Given the description of an element on the screen output the (x, y) to click on. 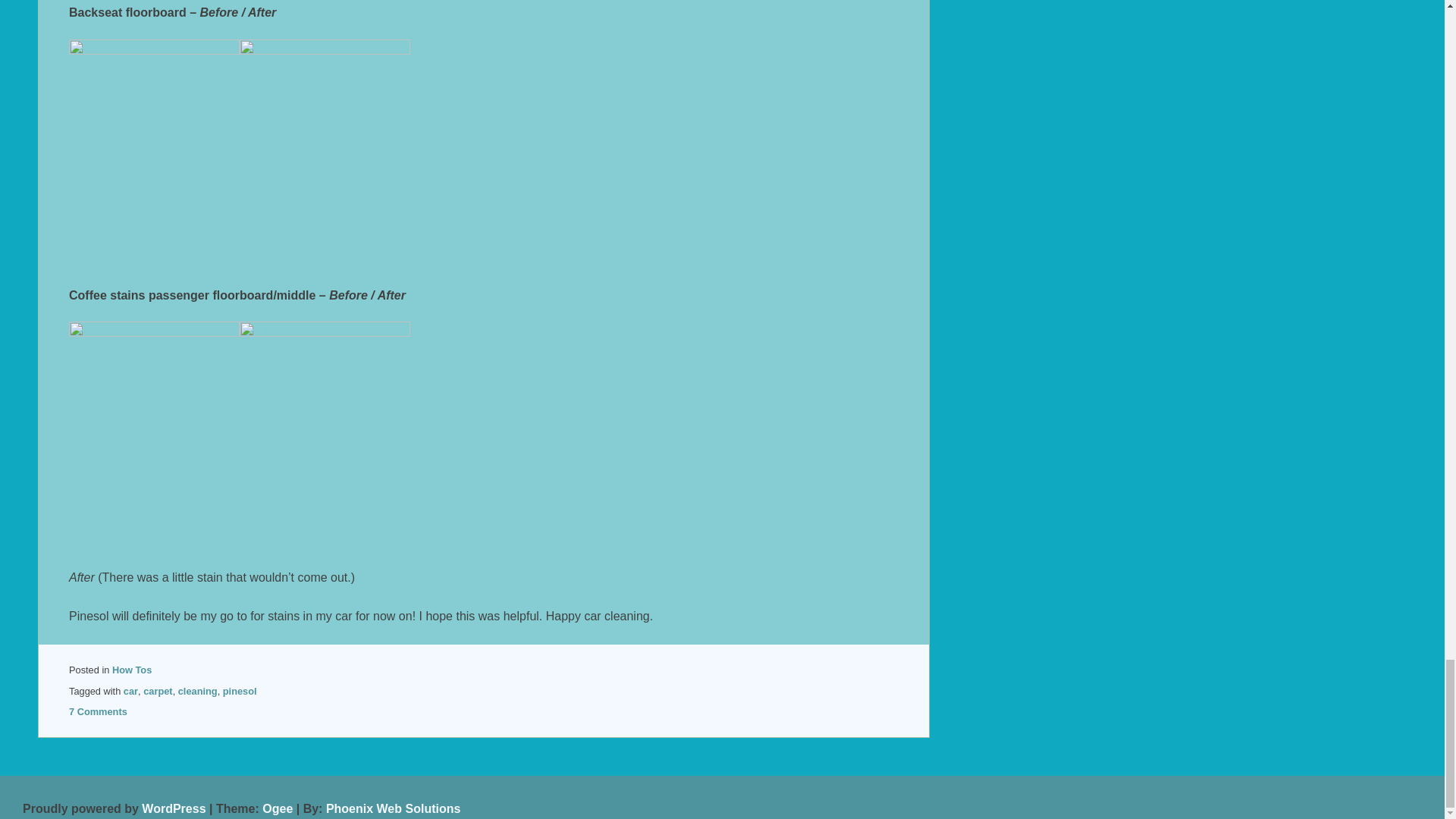
Phoenix Web Solutions (393, 808)
Ogee (277, 808)
How Tos (131, 669)
7 Comments (98, 711)
WordPress (173, 808)
carpet (156, 690)
car (130, 690)
cleaning (196, 690)
pinesol (239, 690)
